Given the description of an element on the screen output the (x, y) to click on. 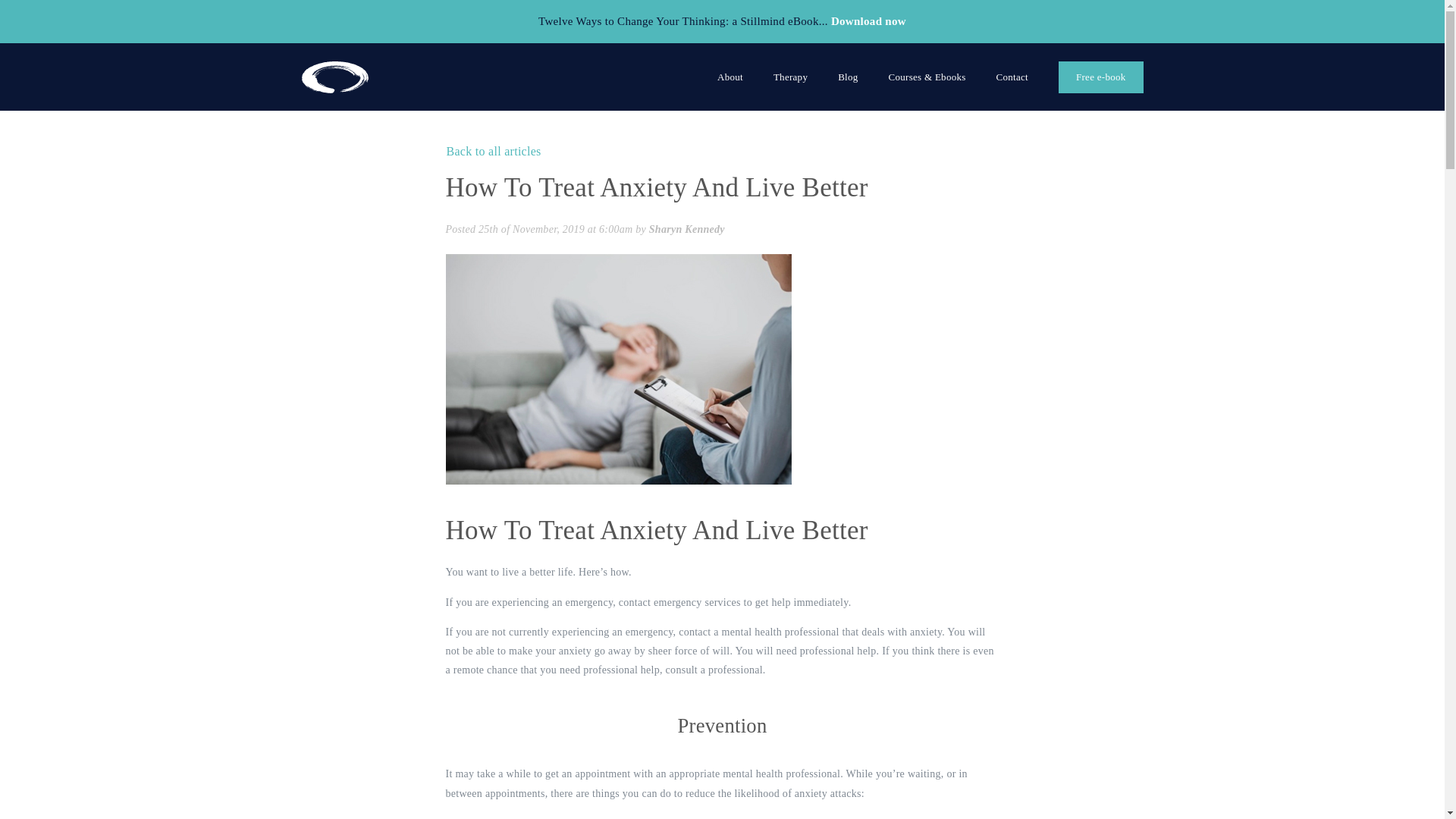
Back to all articles (493, 150)
Blog (847, 76)
Contact (1011, 76)
Download now (868, 21)
Free e-book (1100, 76)
Therapy (790, 76)
About (729, 76)
